Given the description of an element on the screen output the (x, y) to click on. 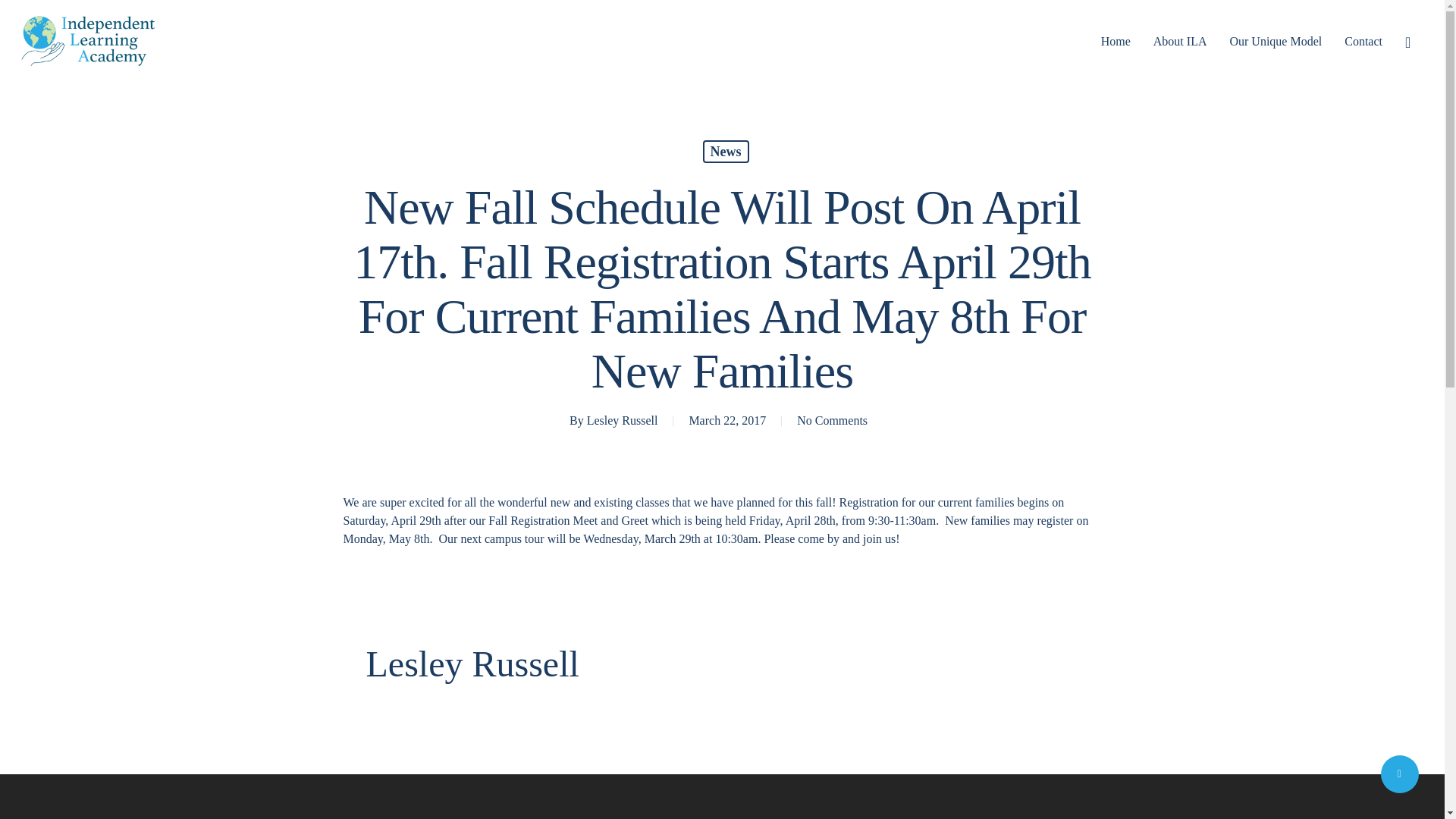
Lesley Russell (622, 420)
Home (1115, 41)
Posts by Lesley Russell (622, 420)
Contact (1362, 41)
News (724, 151)
Our Unique Model (1275, 41)
No Comments (831, 420)
Lesley Russell (471, 663)
About ILA (1180, 41)
